Given the description of an element on the screen output the (x, y) to click on. 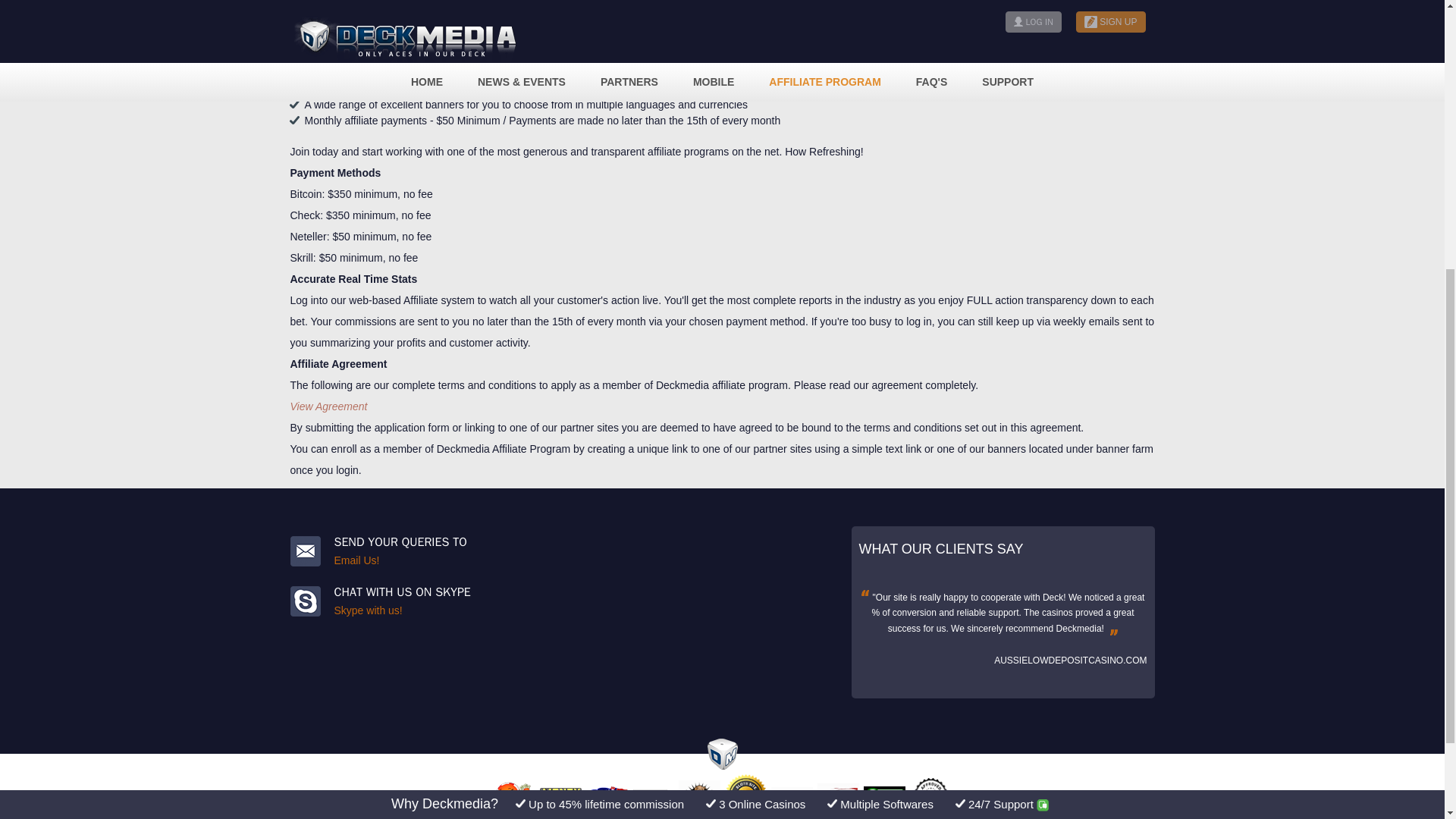
AUSSIELOWDEPOSITCASINO.COM (1070, 660)
View Agreement (327, 406)
Skype with us! (367, 610)
Email Us! (355, 560)
